Given the description of an element on the screen output the (x, y) to click on. 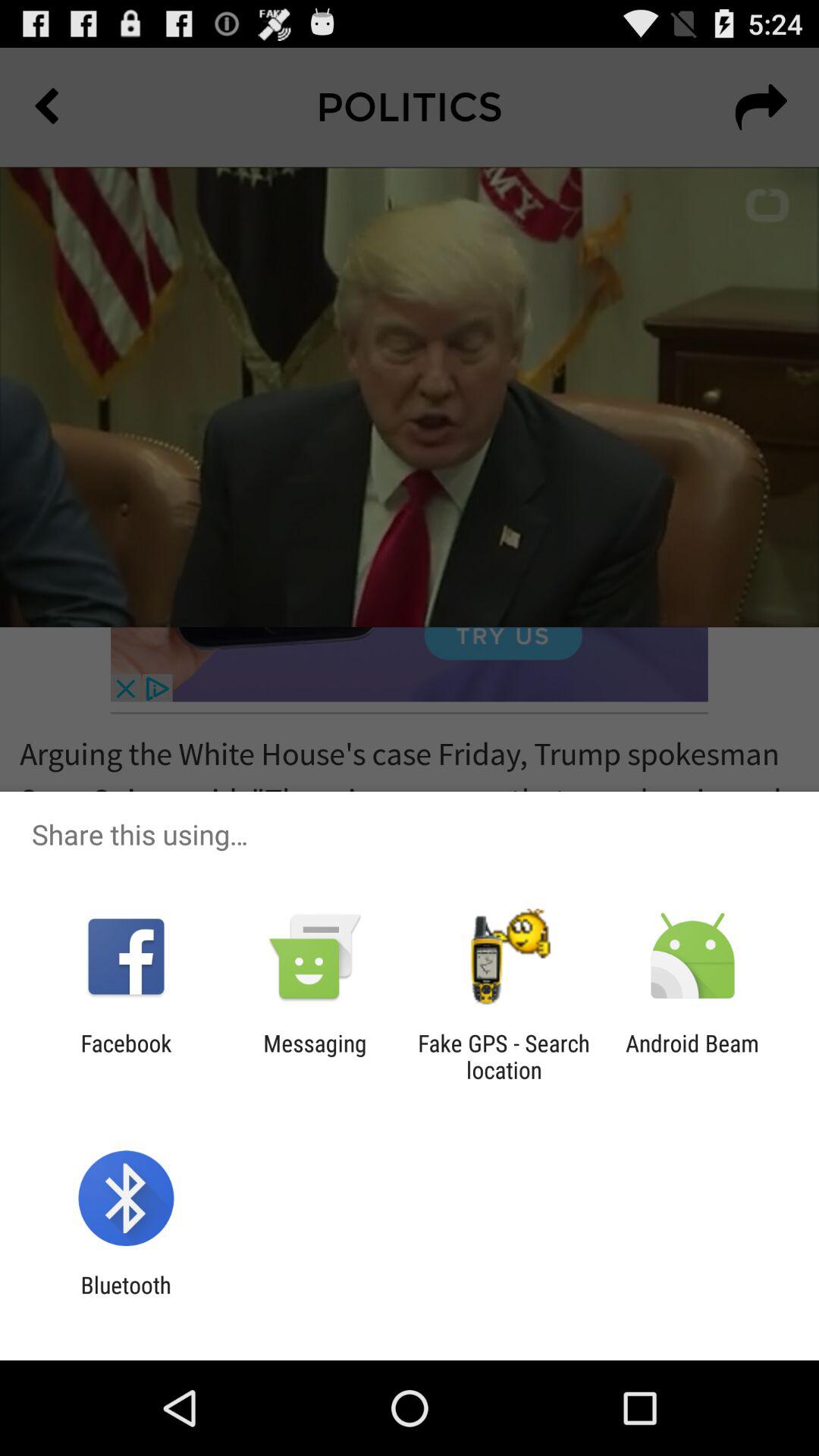
turn on icon to the right of facebook app (314, 1056)
